Given the description of an element on the screen output the (x, y) to click on. 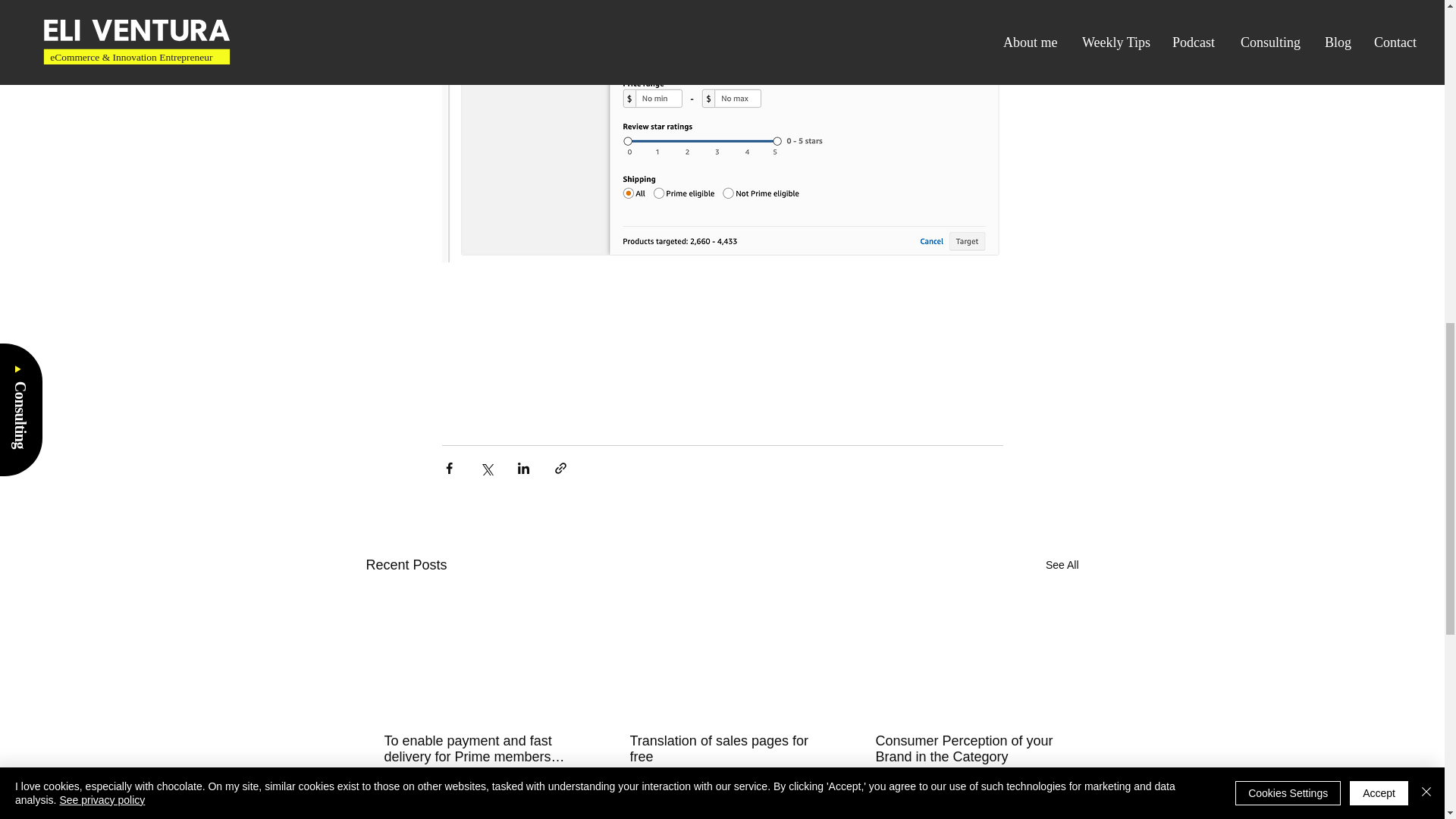
Translation of sales pages for free (720, 748)
Consumer Perception of your Brand in the Category (966, 748)
See All (1061, 565)
